Given the description of an element on the screen output the (x, y) to click on. 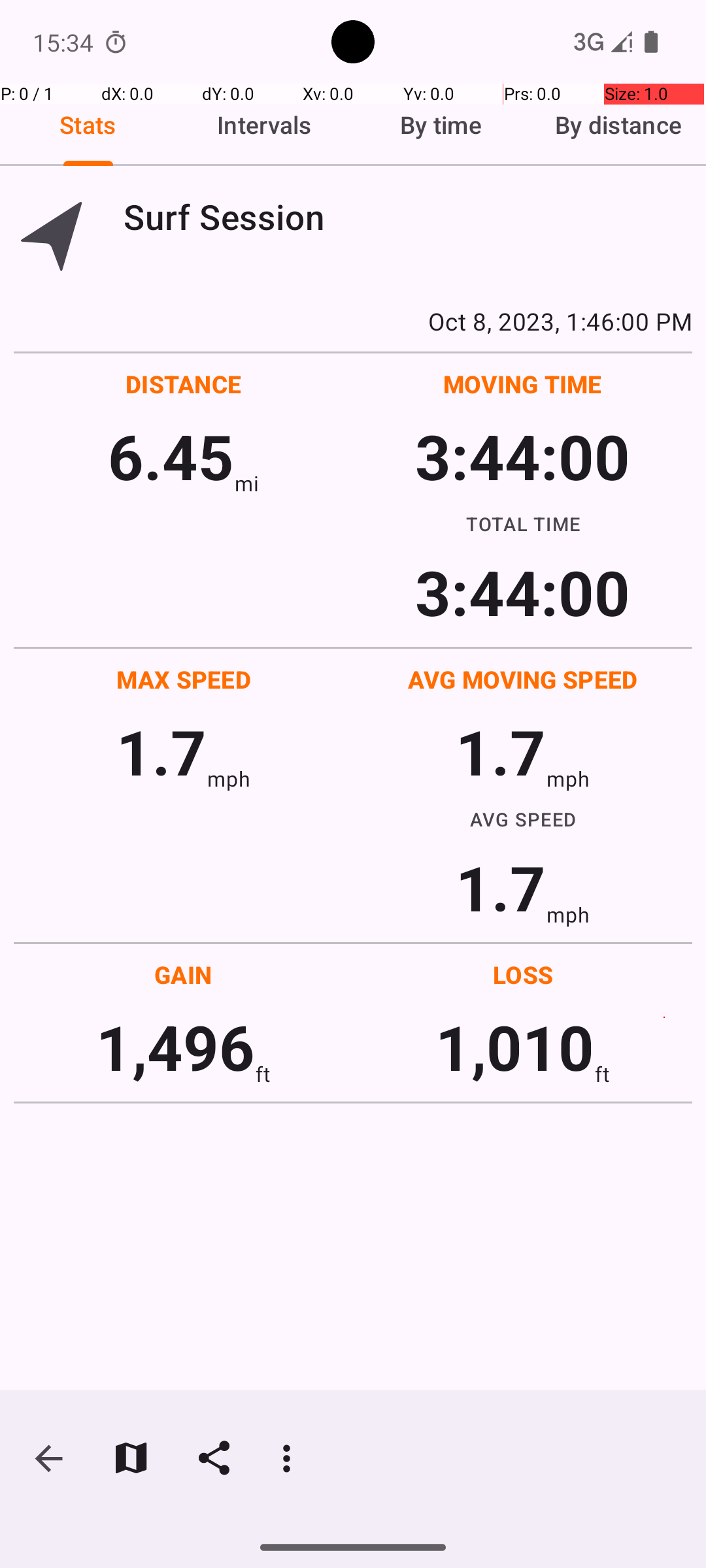
Surf Session Element type: android.widget.TextView (407, 216)
Oct 8, 2023, 1:46:00 PM Element type: android.widget.TextView (352, 320)
6.45 Element type: android.widget.TextView (170, 455)
3:44:00 Element type: android.widget.TextView (522, 455)
1.7 Element type: android.widget.TextView (161, 750)
1,496 Element type: android.widget.TextView (175, 1045)
1,010 Element type: android.widget.TextView (514, 1045)
